Given the description of an element on the screen output the (x, y) to click on. 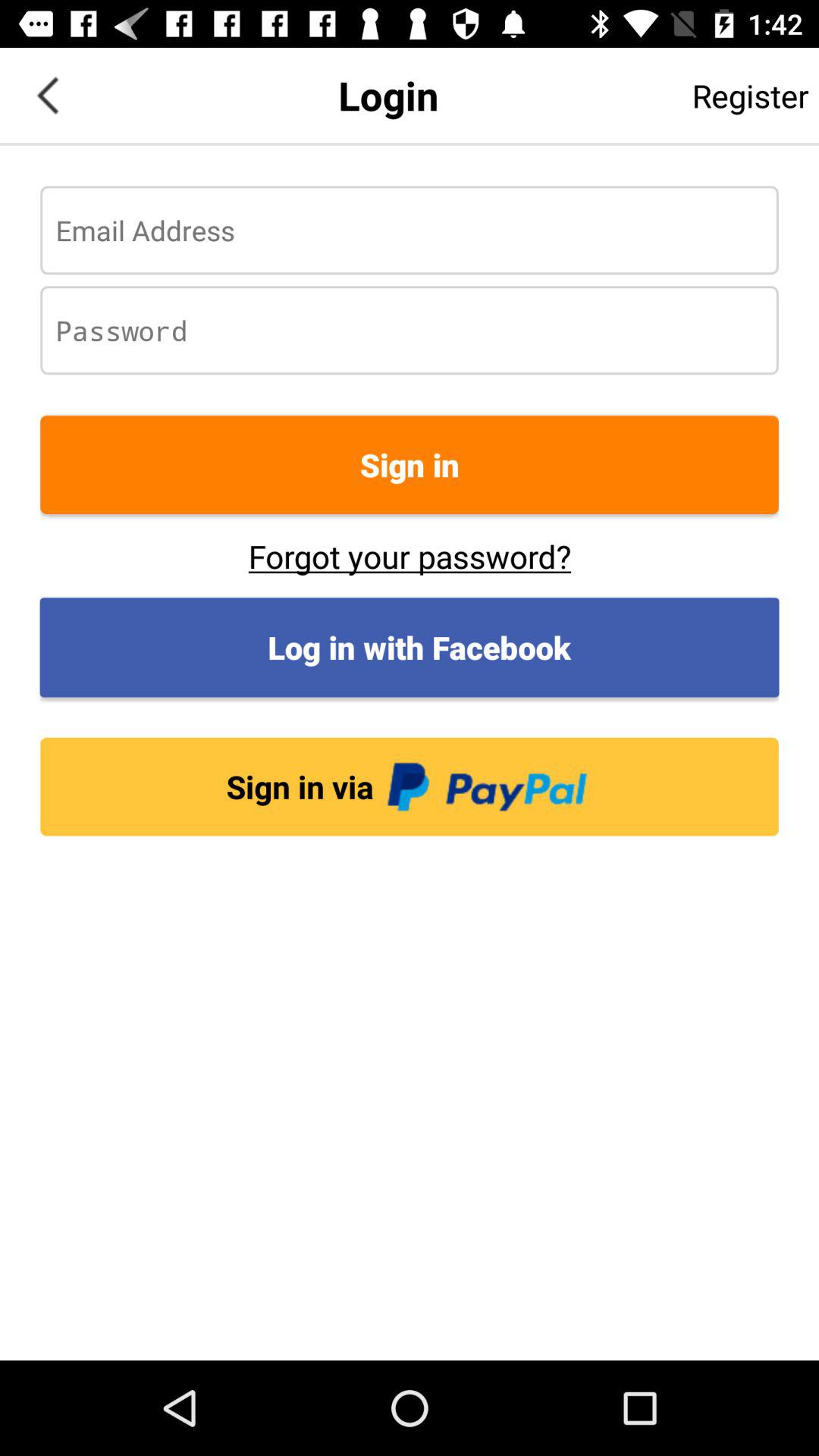
press button below the sign in item (409, 555)
